Given the description of an element on the screen output the (x, y) to click on. 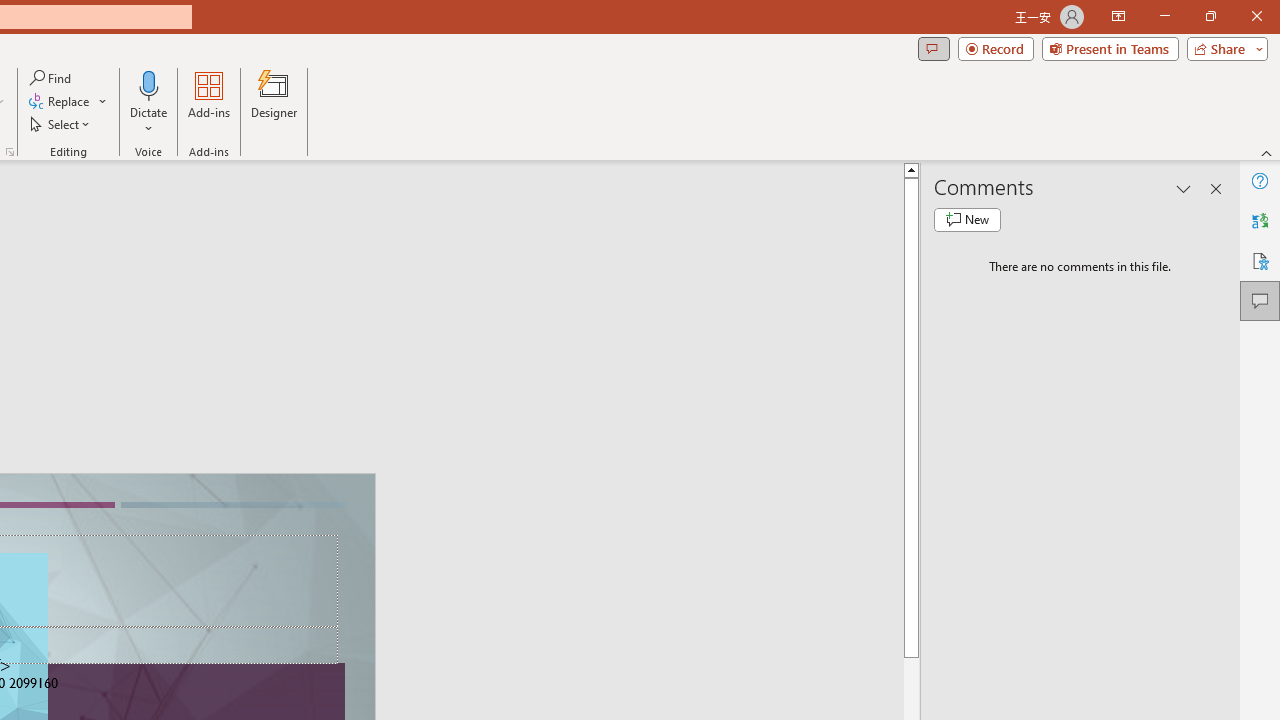
Dictate (149, 102)
Format Object... (9, 151)
Translator (1260, 220)
Task Pane Options (1183, 188)
Close pane (1215, 188)
New comment (967, 219)
Find... (51, 78)
Replace... (60, 101)
Replace... (68, 101)
Select (61, 124)
